Given the description of an element on the screen output the (x, y) to click on. 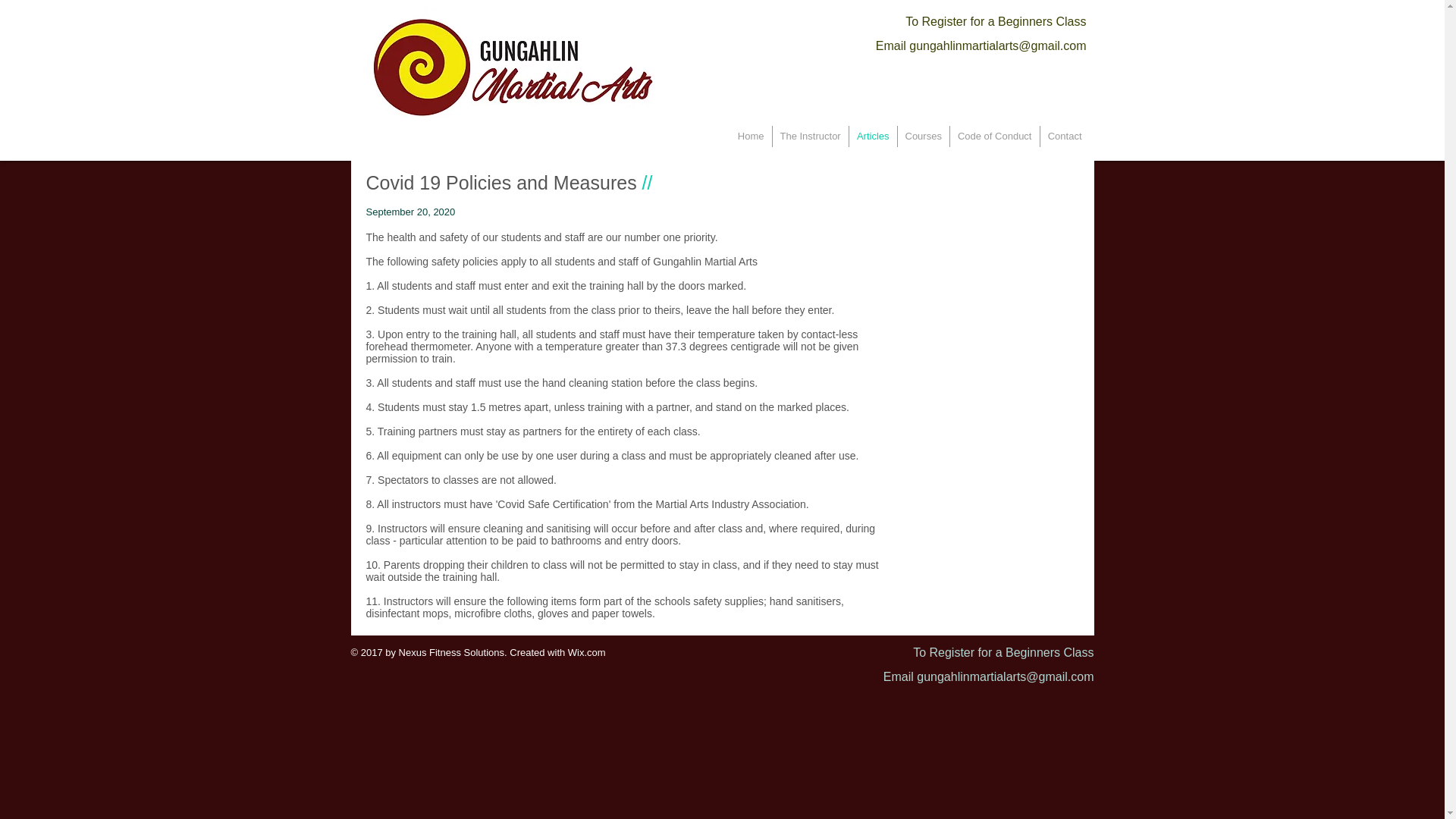
The Instructor Element type: text (809, 136)
Contact Element type: text (1064, 136)
Articles Element type: text (873, 136)
Wix.com Element type: text (586, 652)
Courses Element type: text (923, 136)
Code of Conduct Element type: text (993, 136)
Home Element type: text (750, 136)
gungahlinmartialarts@gmail.com Element type: text (1004, 676)
gungahlinmartialarts@gmail.com Element type: text (997, 45)
